Given the description of an element on the screen output the (x, y) to click on. 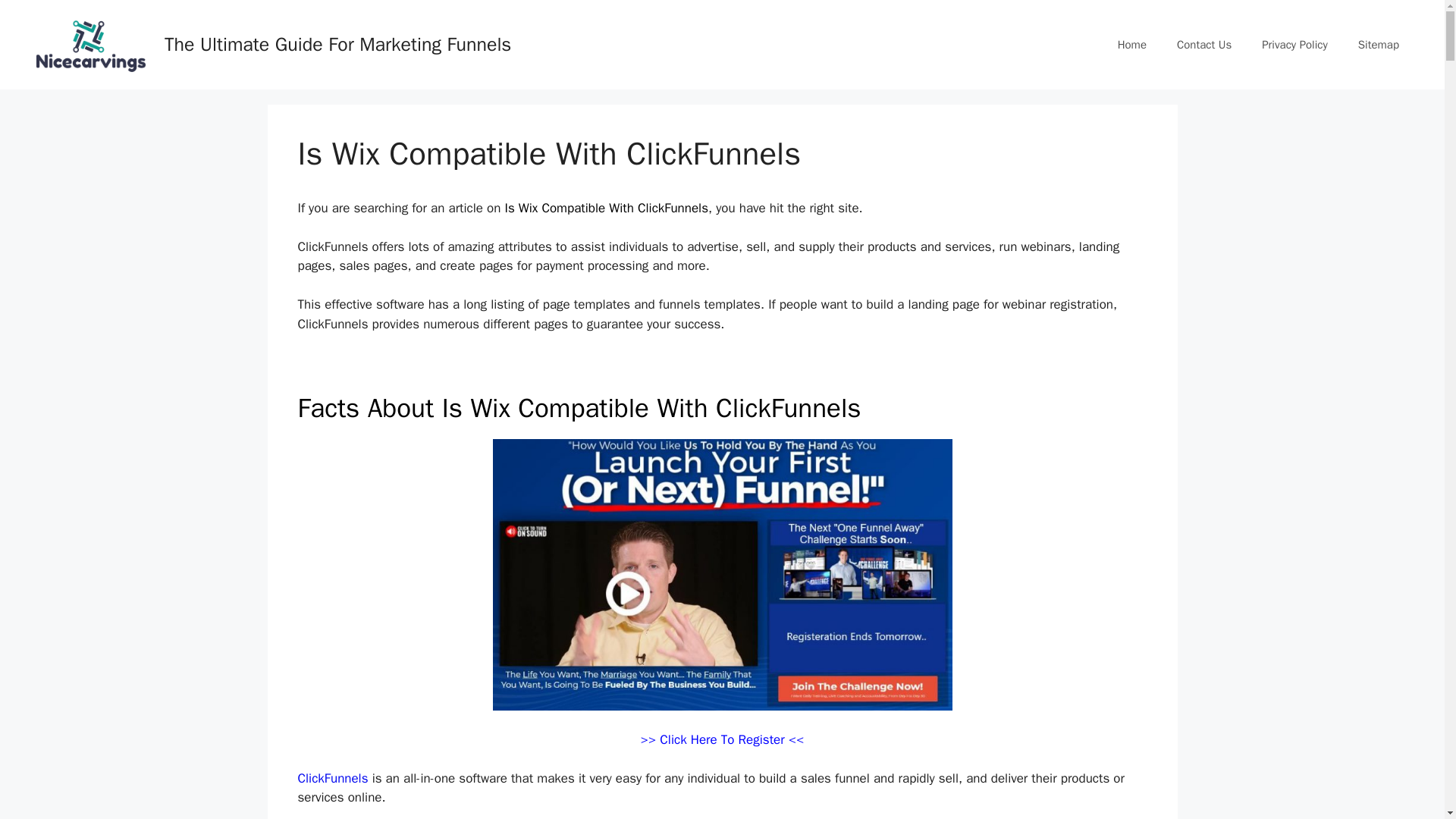
The Ultimate Guide For Marketing Funnels (337, 44)
Privacy Policy (1294, 44)
Sitemap (1377, 44)
Home (1131, 44)
ClickFunnels (332, 778)
Contact Us (1203, 44)
